Given the description of an element on the screen output the (x, y) to click on. 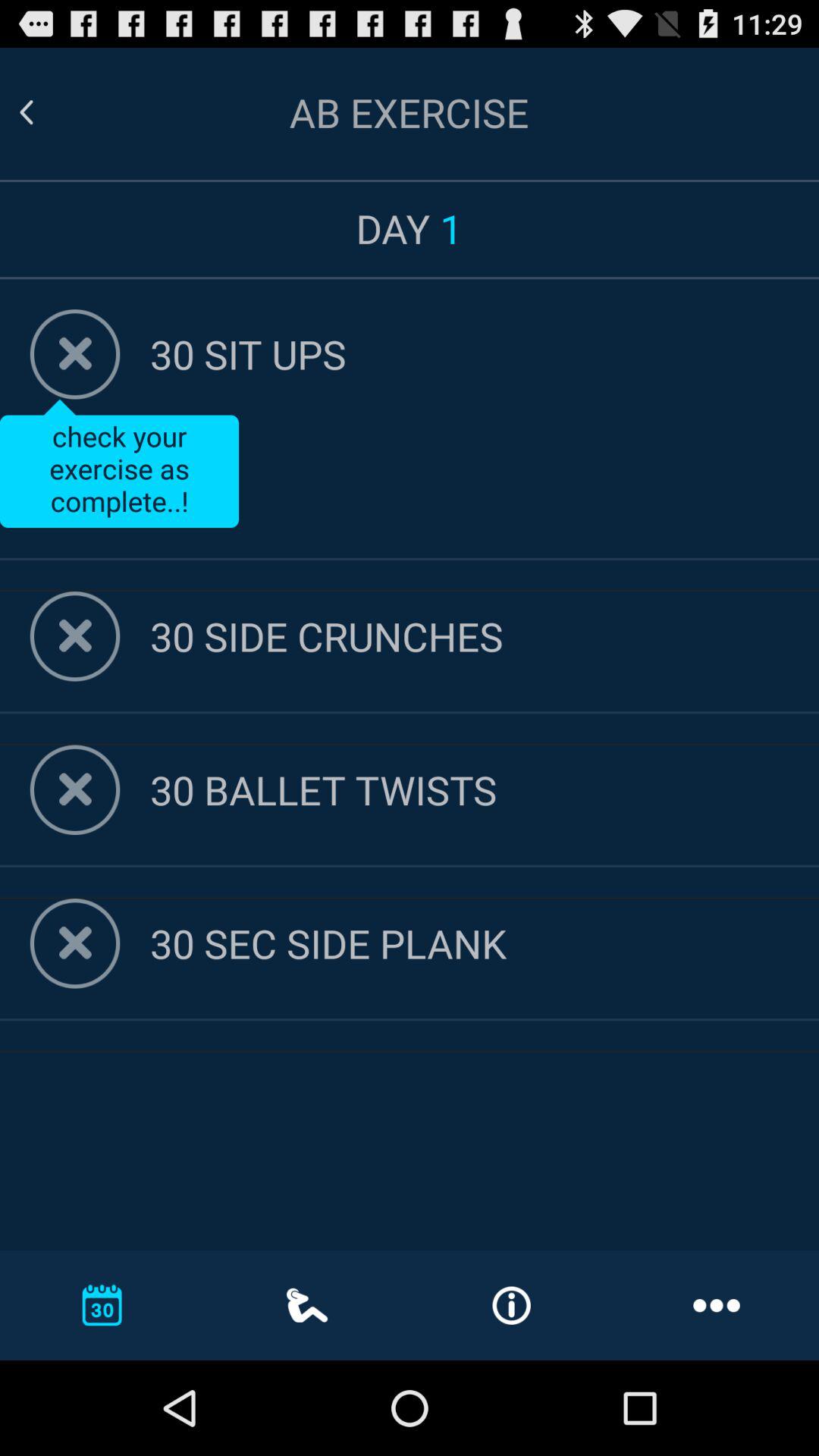
choose 30 sit ups icon (484, 353)
